Given the description of an element on the screen output the (x, y) to click on. 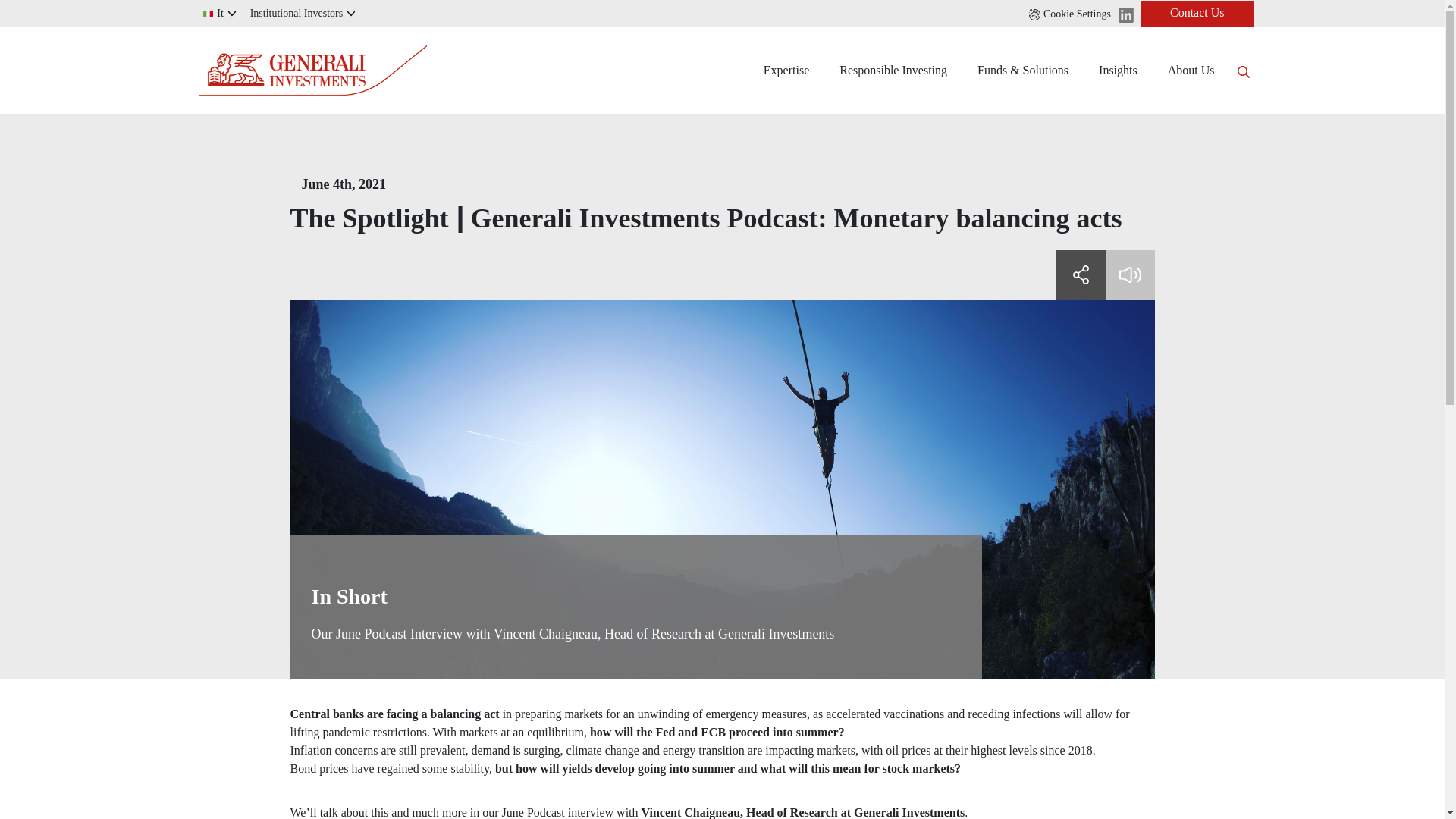
About Us (1191, 70)
Responsible Investing (893, 70)
Contact Us (1197, 13)
